Given the description of an element on the screen output the (x, y) to click on. 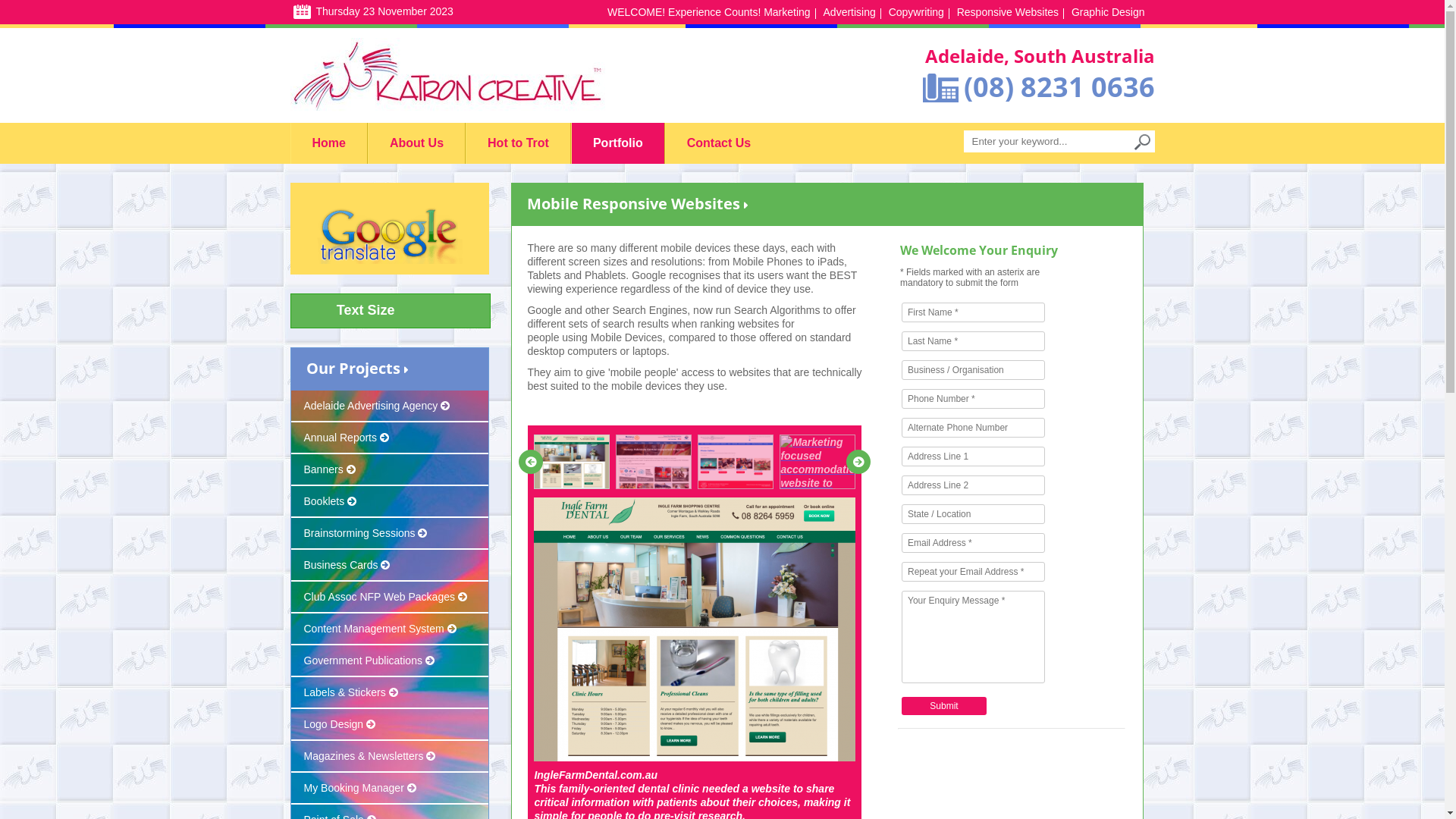
Katron Creative Element type: hover (446, 75)
Banners Element type: text (389, 470)
My Booking Manager Element type: text (389, 788)
Copywriting Element type: text (916, 12)
Hot to Trot Element type: text (518, 142)
Government Publications Element type: text (389, 661)
Business Cards Element type: text (389, 565)
Image Element type: hover (389, 234)
Logo Design Element type: text (389, 724)
Booklets Element type: text (389, 501)
www.SunriseOnFalie.com.au Element type: hover (817, 461)
search Element type: text (1141, 142)
IngleFarmDental.com.au Element type: hover (571, 461)
Submit Element type: text (943, 705)
RotaryAdelaideCentral.org.au Element type: hover (653, 461)
Katron Creative Element type: hover (462, 75)
Home Element type: text (329, 142)
Responsive Websites Element type: text (1007, 12)
Graphic Design Element type: text (1108, 12)
Club Assoc NFP Web Packages Element type: text (389, 597)
Labels & Stickers Element type: text (389, 693)
Magazines & Newsletters Element type: text (389, 756)
Contact Us Element type: text (718, 142)
MtBarkerPS.sa.edu.au Element type: hover (735, 461)
Annual Reports Element type: text (389, 438)
About Us Element type: text (416, 142)
Portfolio Element type: text (617, 142)
WELCOME! Experience Counts! Marketing Element type: text (708, 12)
Advertising Element type: text (849, 12)
(08) 8231 0636 Element type: text (1058, 86)
Content Management System Element type: text (389, 629)
Brainstorming Sessions Element type: text (389, 533)
Adelaide Advertising Agency Element type: text (389, 406)
